Given the description of an element on the screen output the (x, y) to click on. 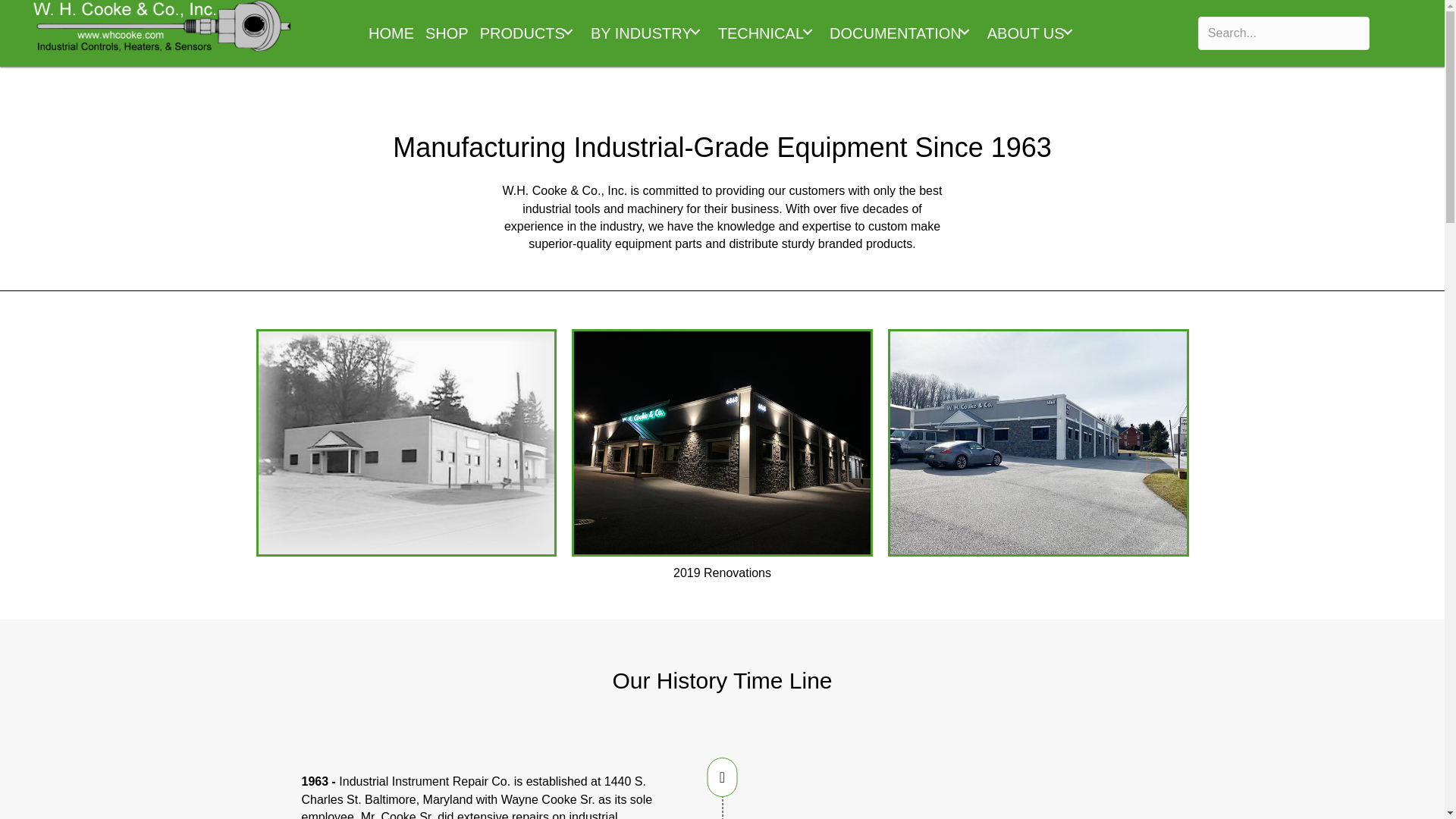
SHOP (446, 30)
PRODUCTS (529, 30)
HOME (391, 30)
BY INDUSTRY (648, 30)
